Given the description of an element on the screen output the (x, y) to click on. 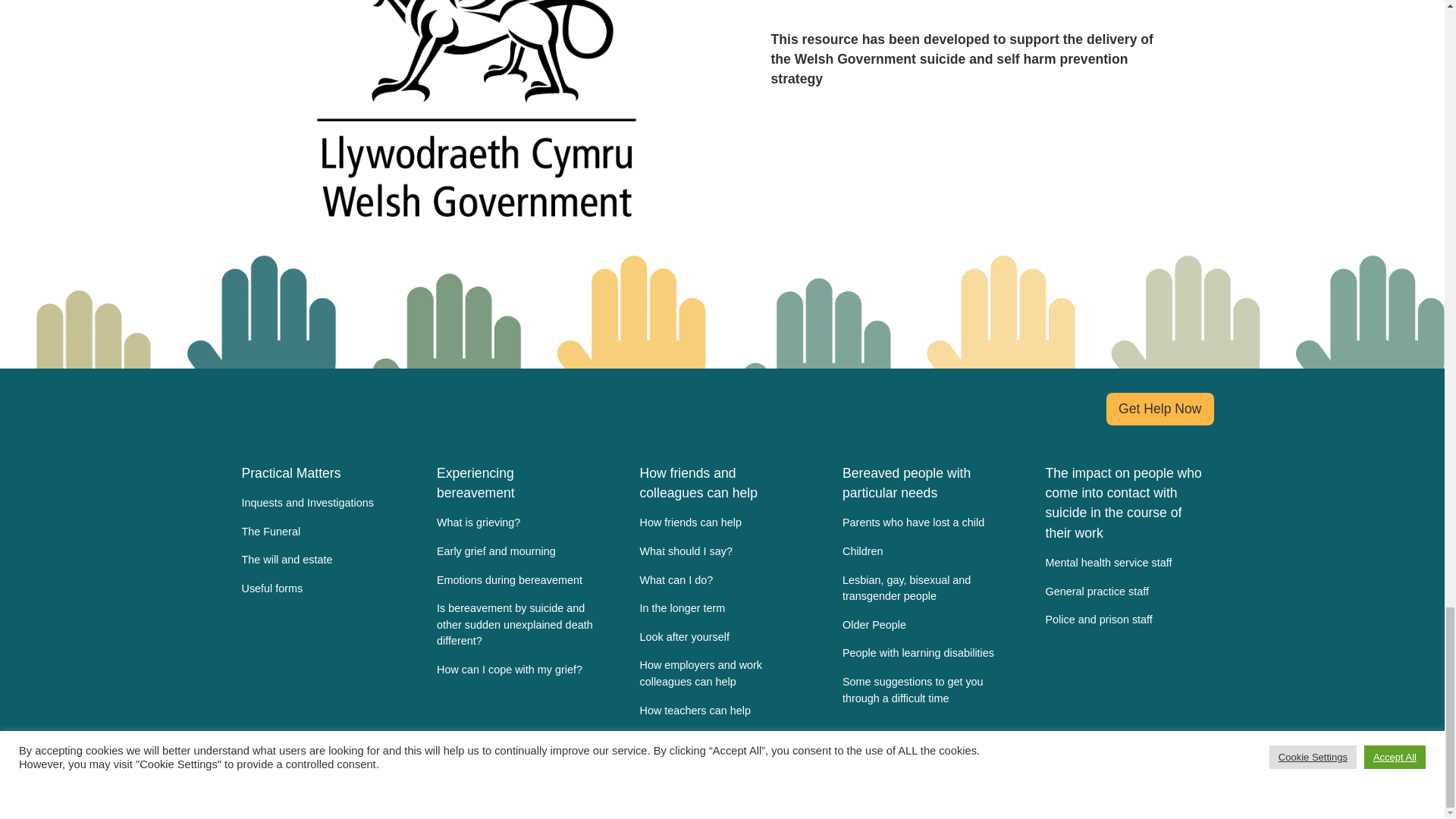
Early grief and mourning (516, 551)
Emotions during bereavement (516, 580)
Useful forms (315, 588)
Experiencing bereavement (516, 483)
What is grieving? (516, 522)
The Funeral (315, 532)
Get Help Now (1160, 409)
Practical Matters (315, 472)
Inquests and Investigations (315, 502)
The will and estate (315, 560)
